Given the description of an element on the screen output the (x, y) to click on. 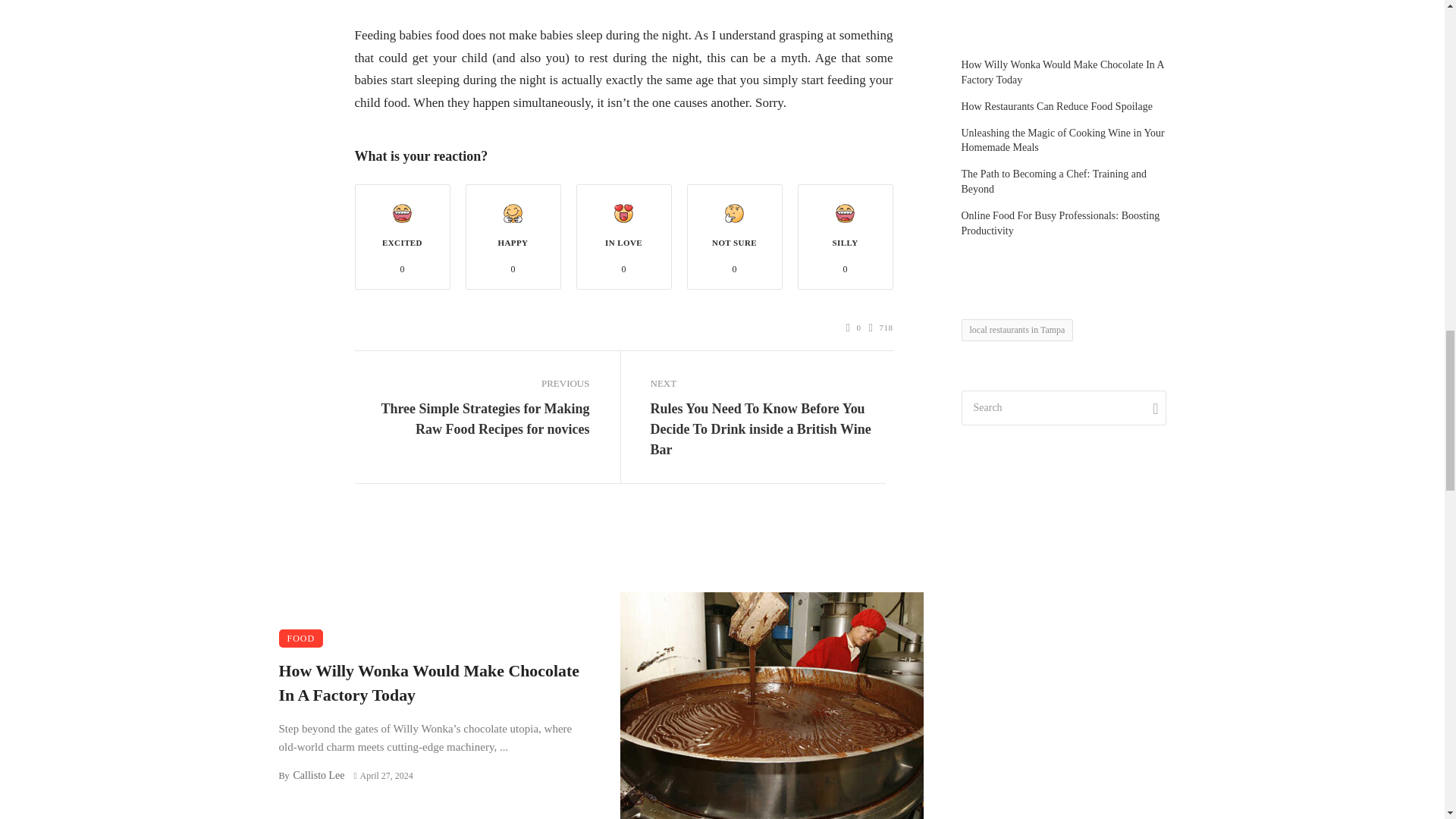
Callisto Lee (317, 775)
How Willy Wonka Would Make Chocolate In A Factory Today (434, 684)
FOOD (301, 638)
718 (881, 327)
PREVIOUS (472, 383)
NEXT (767, 383)
0 (853, 327)
